Given the description of an element on the screen output the (x, y) to click on. 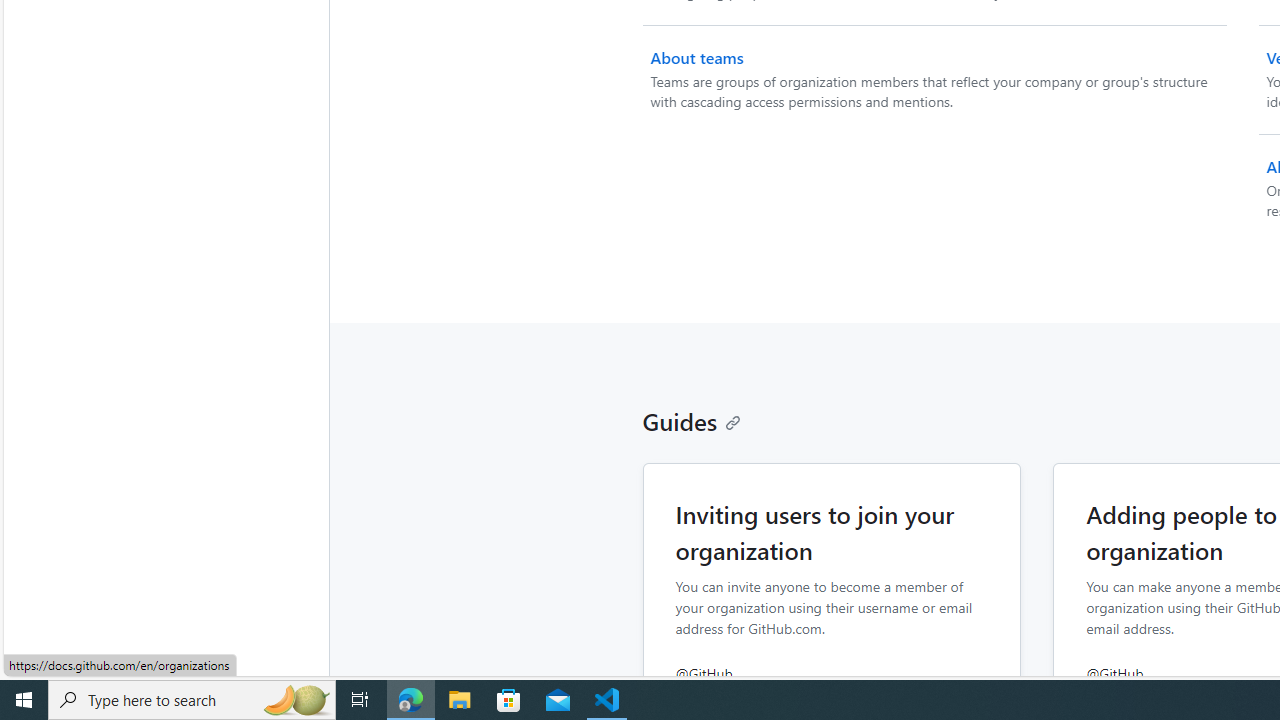
Guides (692, 420)
